Given the description of an element on the screen output the (x, y) to click on. 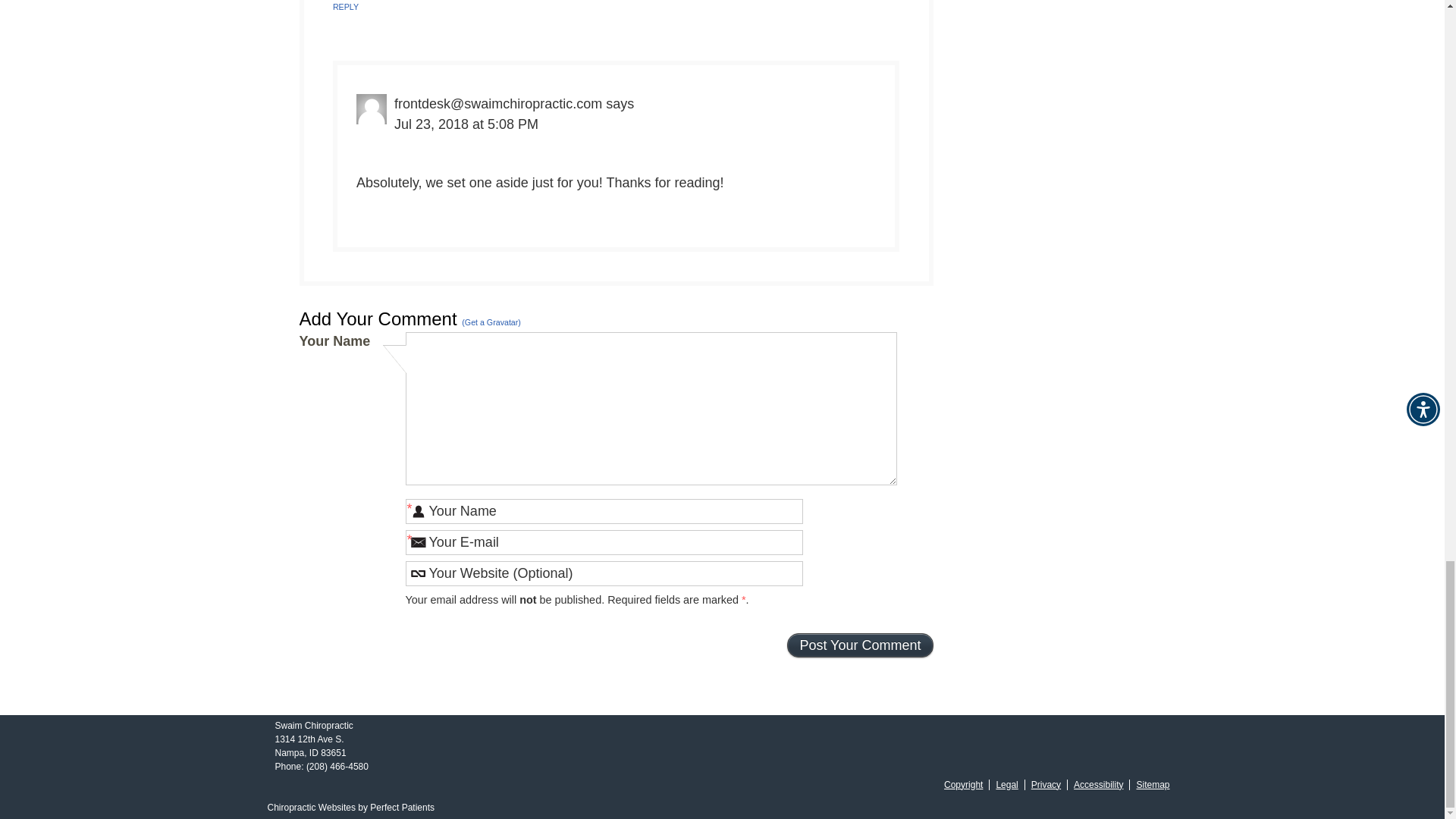
Post Your Comment (860, 645)
Your E-mail (603, 542)
Your Name (603, 511)
Your E-mail (603, 542)
Footer Links (1053, 784)
Your Name (603, 511)
